Given the description of an element on the screen output the (x, y) to click on. 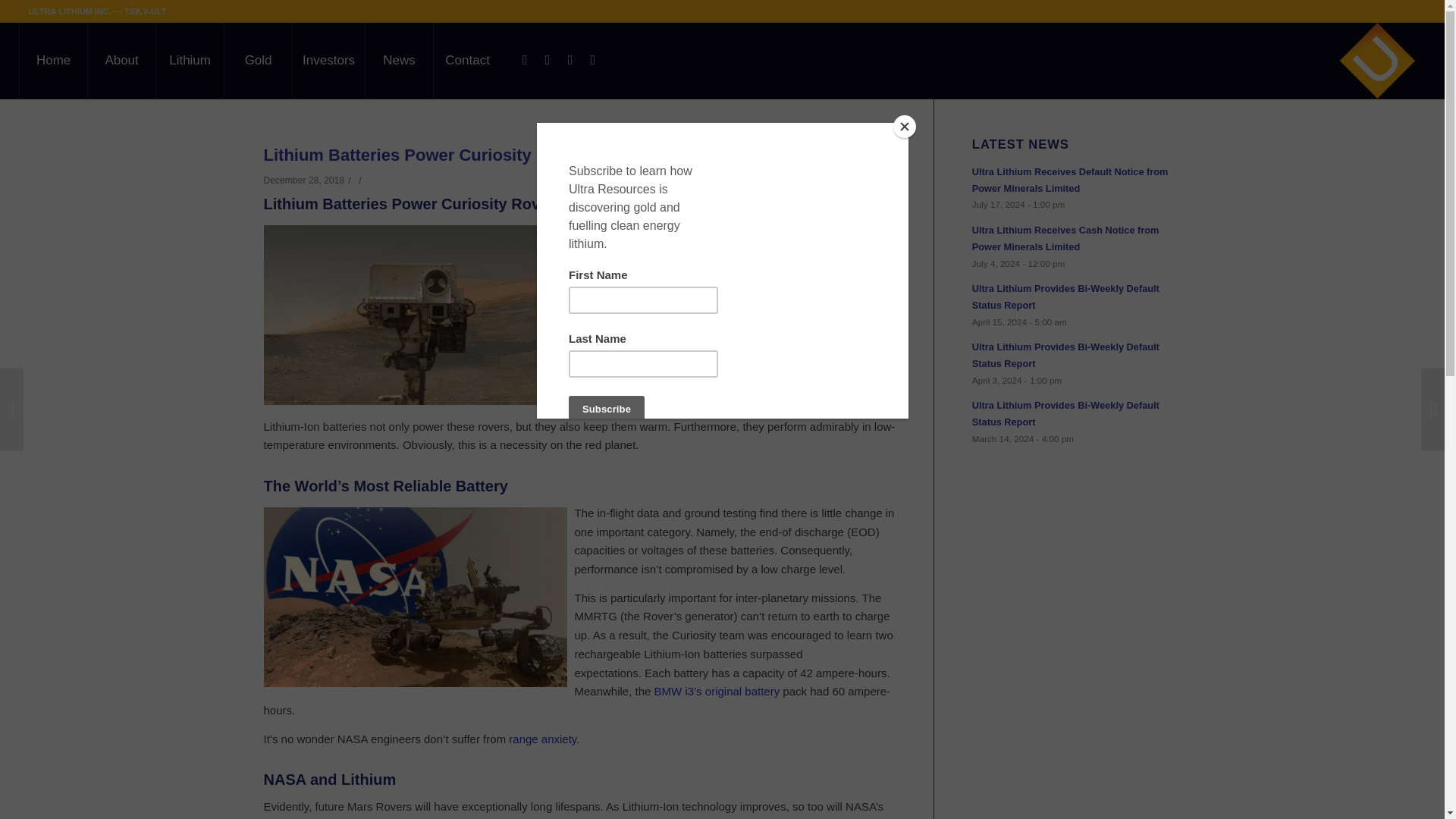
Lithium Powered Planes Incoming (732, 399)
Contact (466, 60)
Gold (258, 60)
LinkedIn (569, 59)
Lithium (189, 60)
Twitter (524, 59)
About (121, 60)
Investors (328, 60)
Facebook (547, 59)
News (398, 60)
Home (52, 60)
Youtube (592, 59)
